Given the description of an element on the screen output the (x, y) to click on. 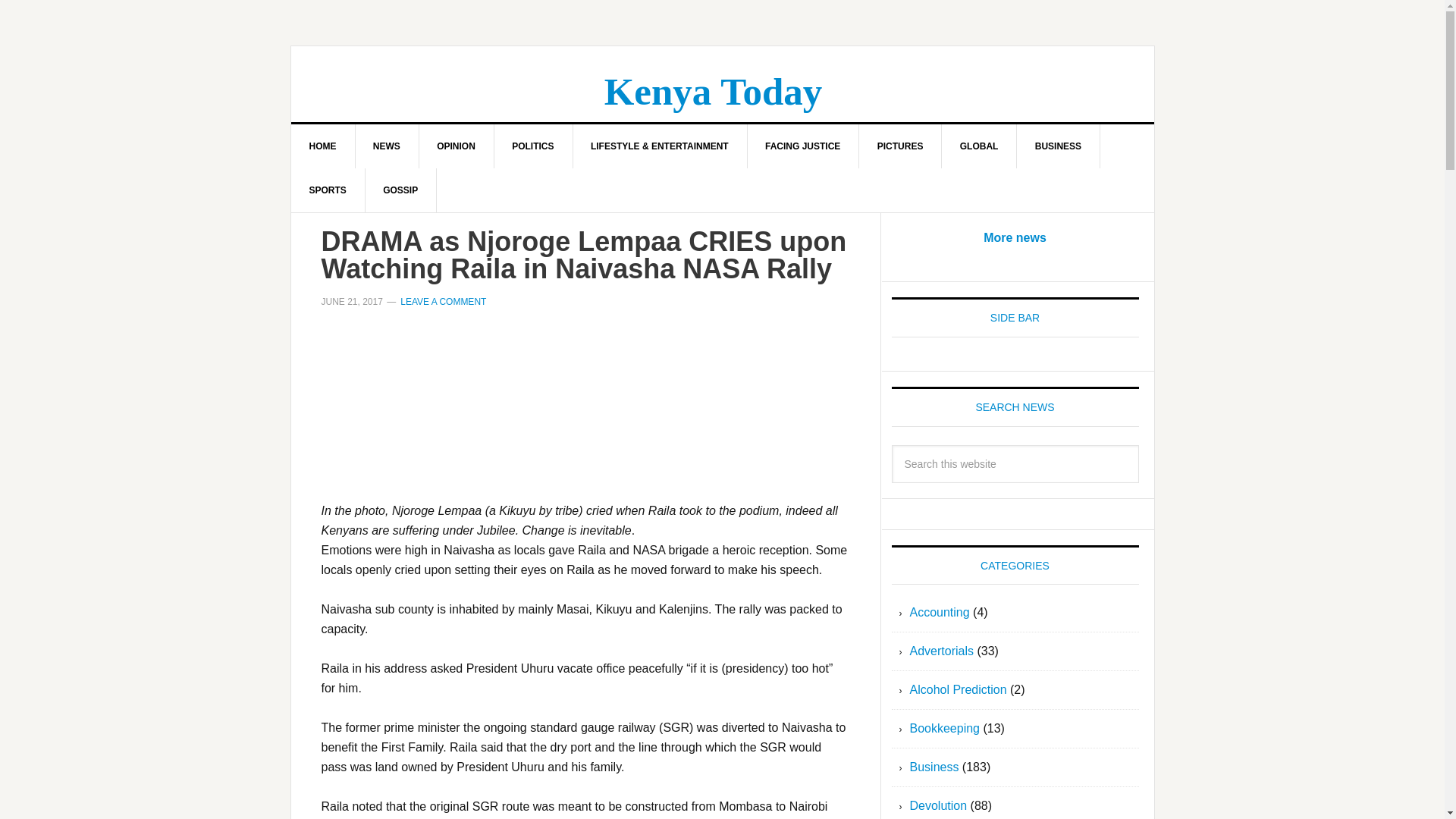
Kenya Today (713, 91)
Devolution (939, 805)
Alcohol Prediction (958, 689)
GLOBAL (979, 146)
OPINION (457, 146)
Bookkeeping (944, 727)
Accounting (939, 612)
SPORTS (328, 190)
NEWS (387, 146)
FACING JUSTICE (802, 146)
LEAVE A COMMENT (443, 301)
PICTURES (900, 146)
